Given the description of an element on the screen output the (x, y) to click on. 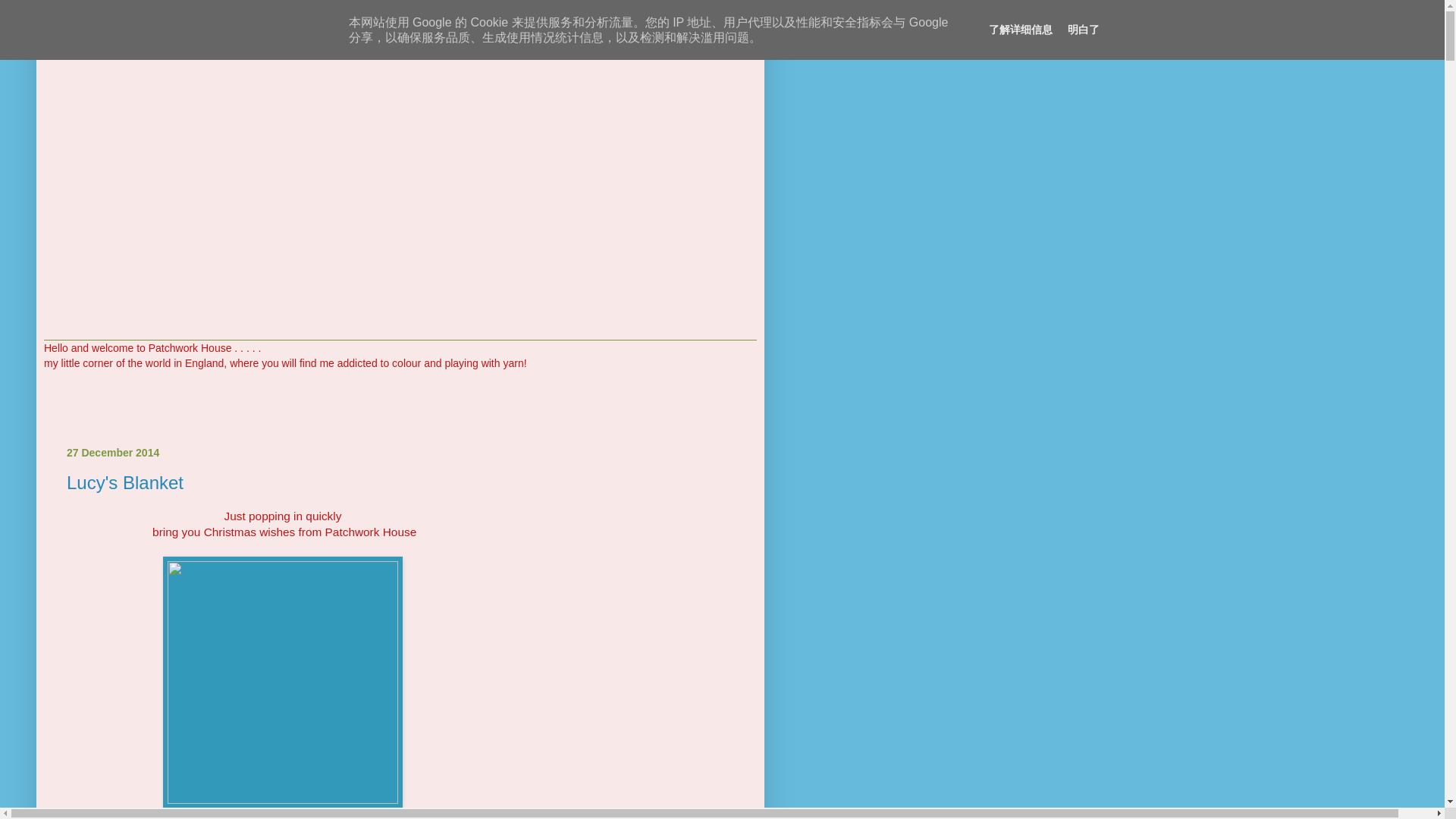
Lucy's Blanket (124, 482)
